Given the description of an element on the screen output the (x, y) to click on. 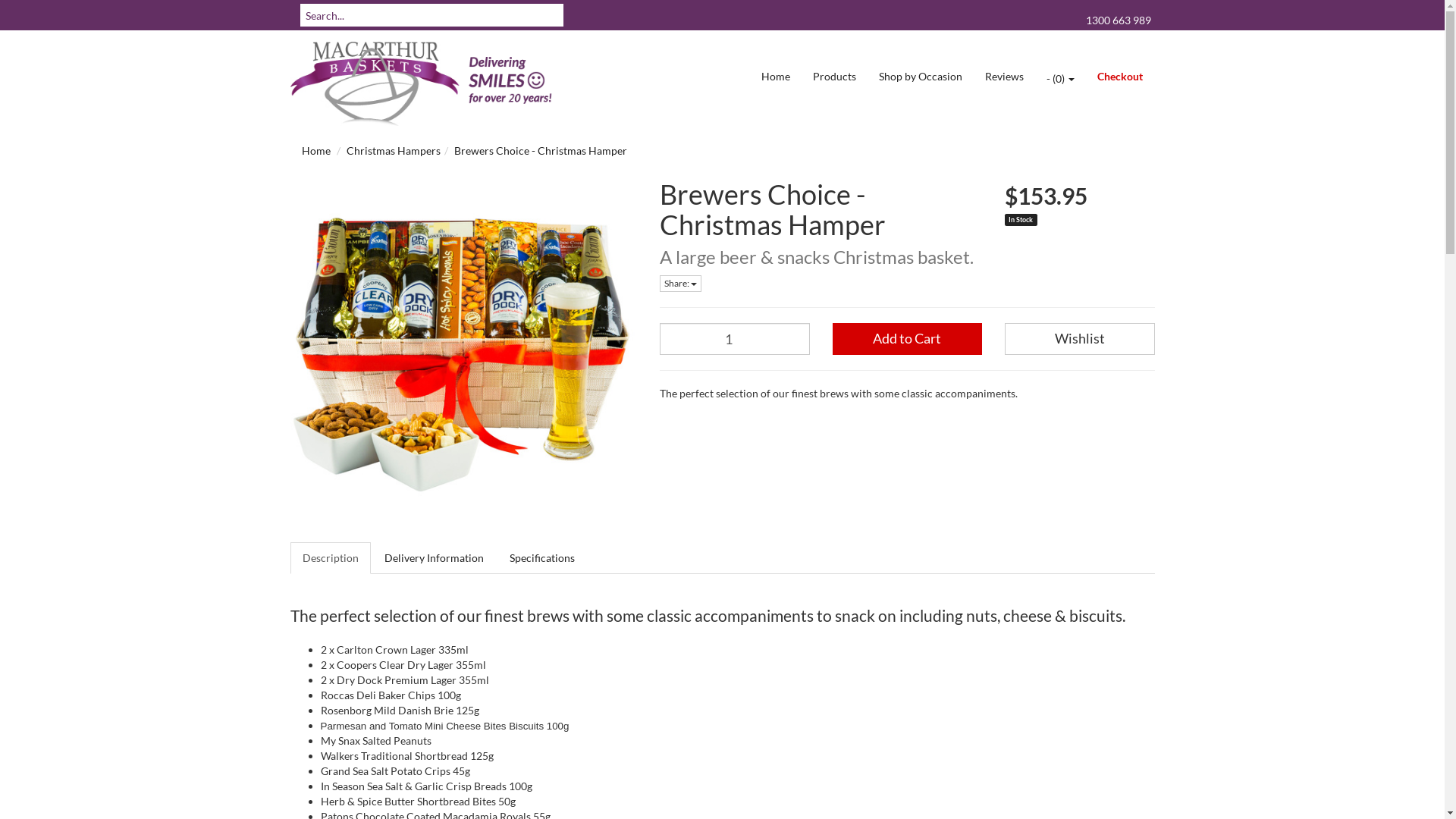
Shop by Occasion Element type: text (920, 76)
Checkout Element type: text (1119, 76)
Macarthur Baskets Element type: hover (425, 83)
Delivery Information Element type: text (433, 558)
Specifications Element type: text (541, 558)
1300 663 989 Element type: text (1118, 19)
Reviews Element type: text (1004, 76)
Wishlist Element type: text (1079, 338)
Home Element type: text (315, 150)
Christmas Hampers Element type: text (392, 150)
Brewers Choice - Christmas Hamper Element type: text (539, 150)
Products Element type: text (833, 76)
- (0) Element type: text (1059, 77)
Home Element type: text (774, 76)
Search Element type: text (294, 14)
Share: Element type: text (680, 283)
Description Element type: text (329, 558)
Add to Cart Element type: text (907, 338)
